Given the description of an element on the screen output the (x, y) to click on. 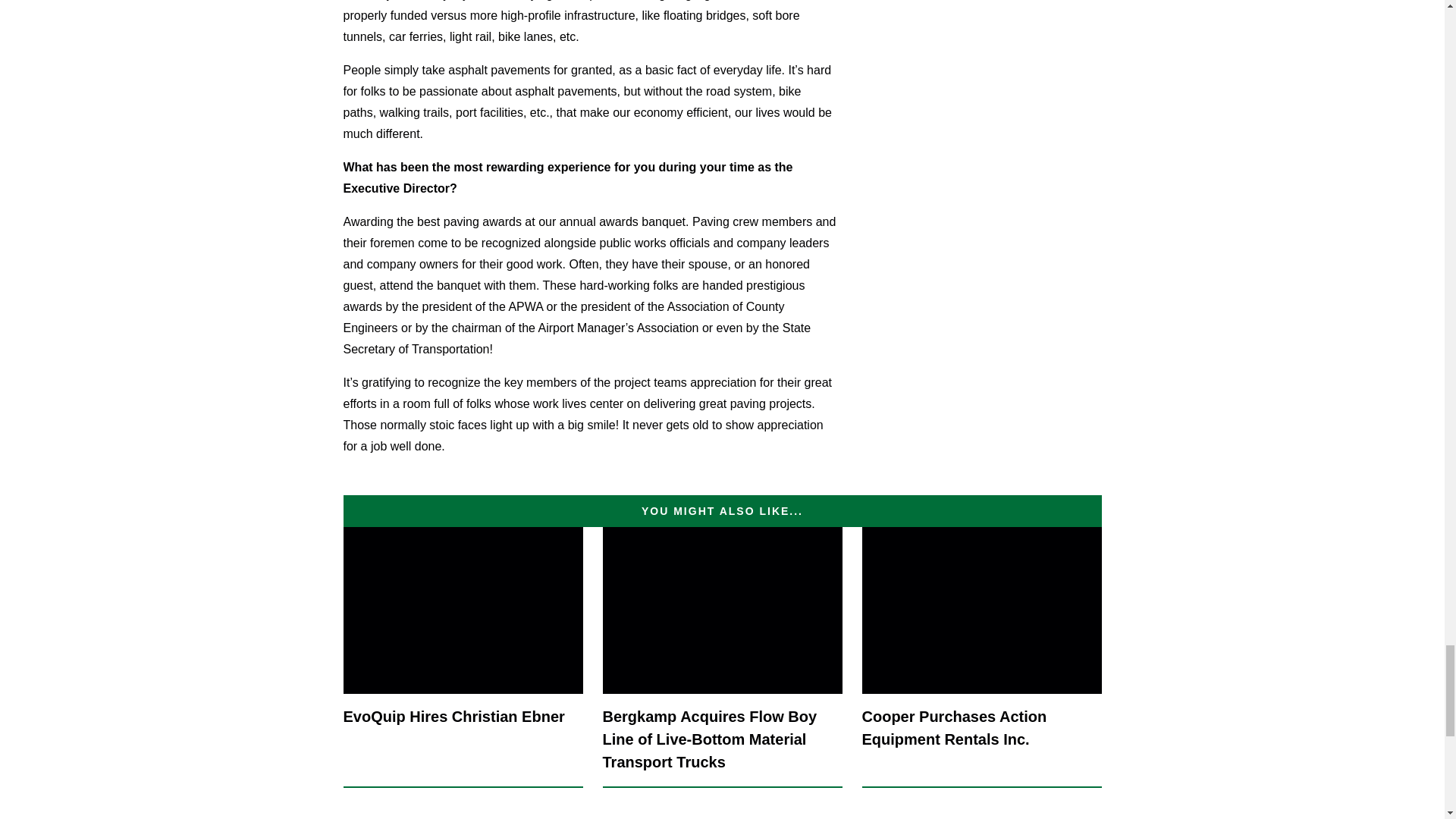
Cooper Purchases Action Equipment Rentals Inc. (980, 657)
EvoQuip Hires Christian Ebner (462, 657)
